Given the description of an element on the screen output the (x, y) to click on. 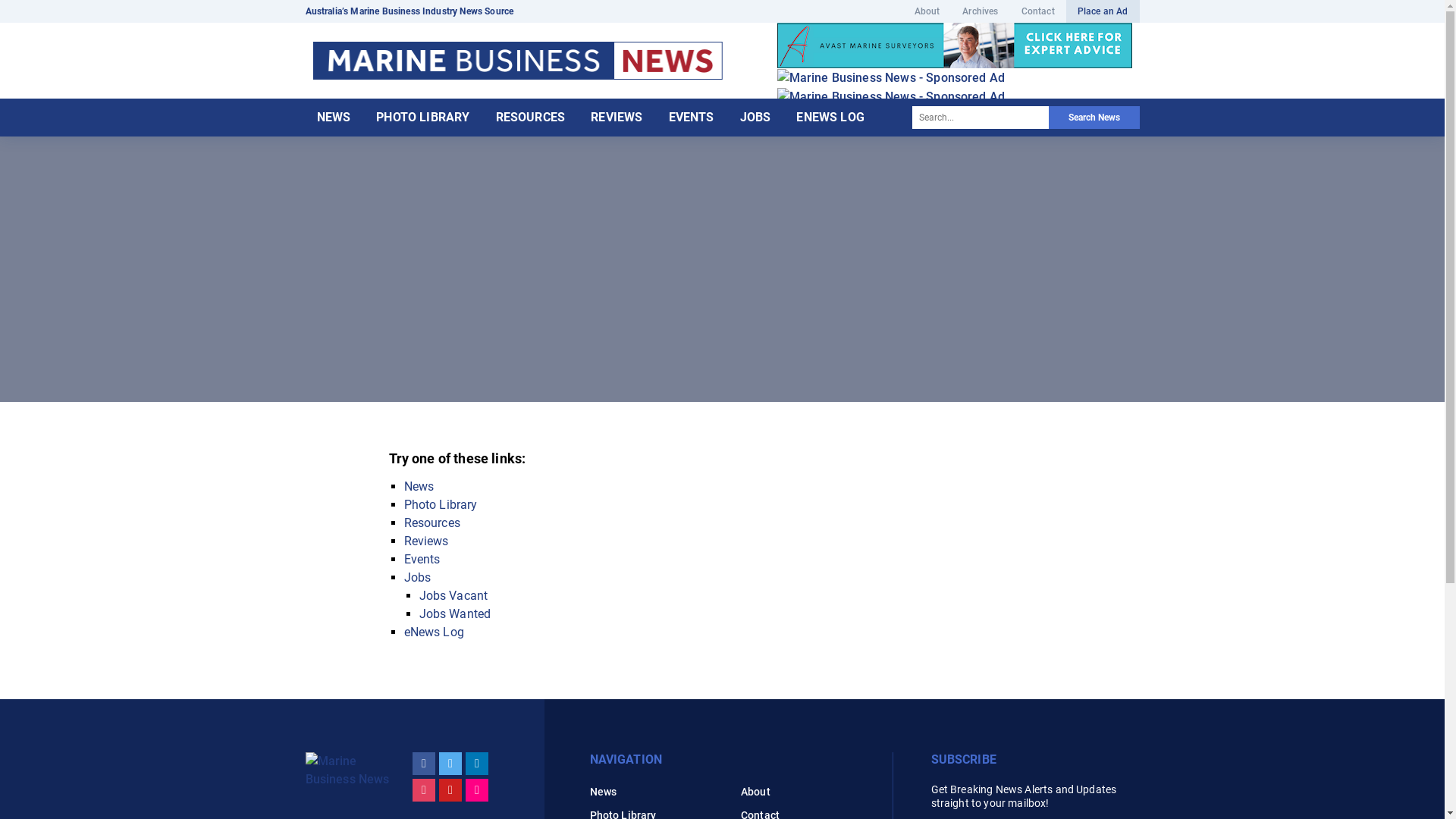
Search News Element type: text (1093, 117)
Photo Library Element type: text (439, 504)
ENEWS LOG Element type: text (829, 117)
News Element type: text (603, 791)
PHOTO LIBRARY Element type: text (422, 117)
Resources Element type: text (431, 522)
Events Element type: text (421, 559)
eNews Log Element type: text (433, 631)
Jobs Element type: text (416, 577)
About Element type: text (755, 791)
EVENTS Element type: text (690, 117)
REVIEWS Element type: text (616, 117)
RESOURCES Element type: text (530, 117)
Jobs Vacant Element type: text (452, 595)
News Element type: text (418, 486)
NEWS Element type: text (332, 117)
Jobs Wanted Element type: text (454, 613)
JOBS Element type: text (755, 117)
Contact Element type: text (1038, 11)
About Element type: text (927, 11)
Reviews Element type: text (425, 540)
Archives Element type: text (979, 11)
Place an Ad Element type: text (1102, 11)
